Given the description of an element on the screen output the (x, y) to click on. 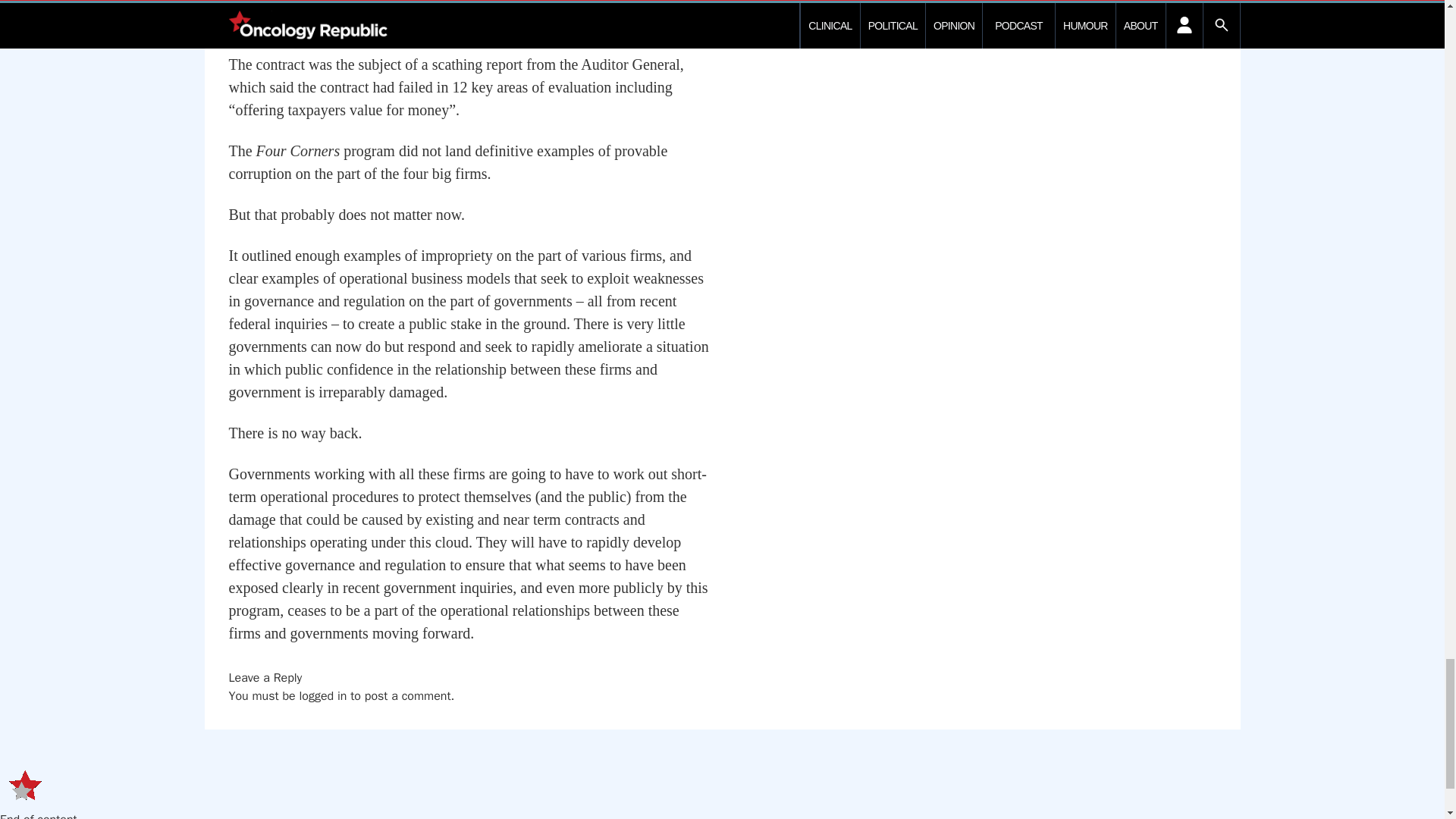
logged in (322, 695)
